Given the description of an element on the screen output the (x, y) to click on. 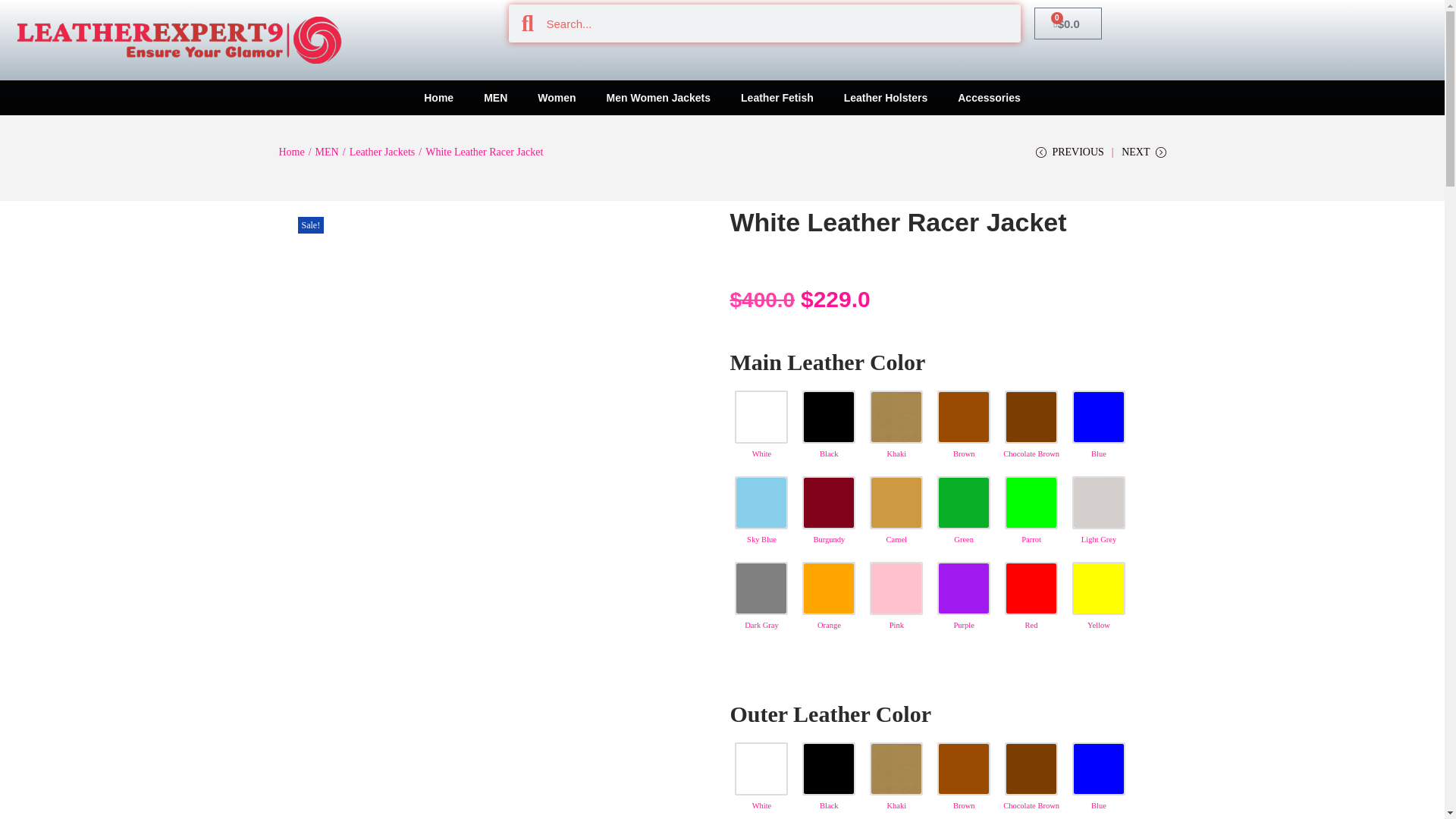
Women (556, 97)
Home (438, 97)
Men Women Jackets (658, 97)
Accessories (988, 97)
MEN (495, 97)
Leather Holsters (885, 97)
Leather Fetish (776, 97)
